Given the description of an element on the screen output the (x, y) to click on. 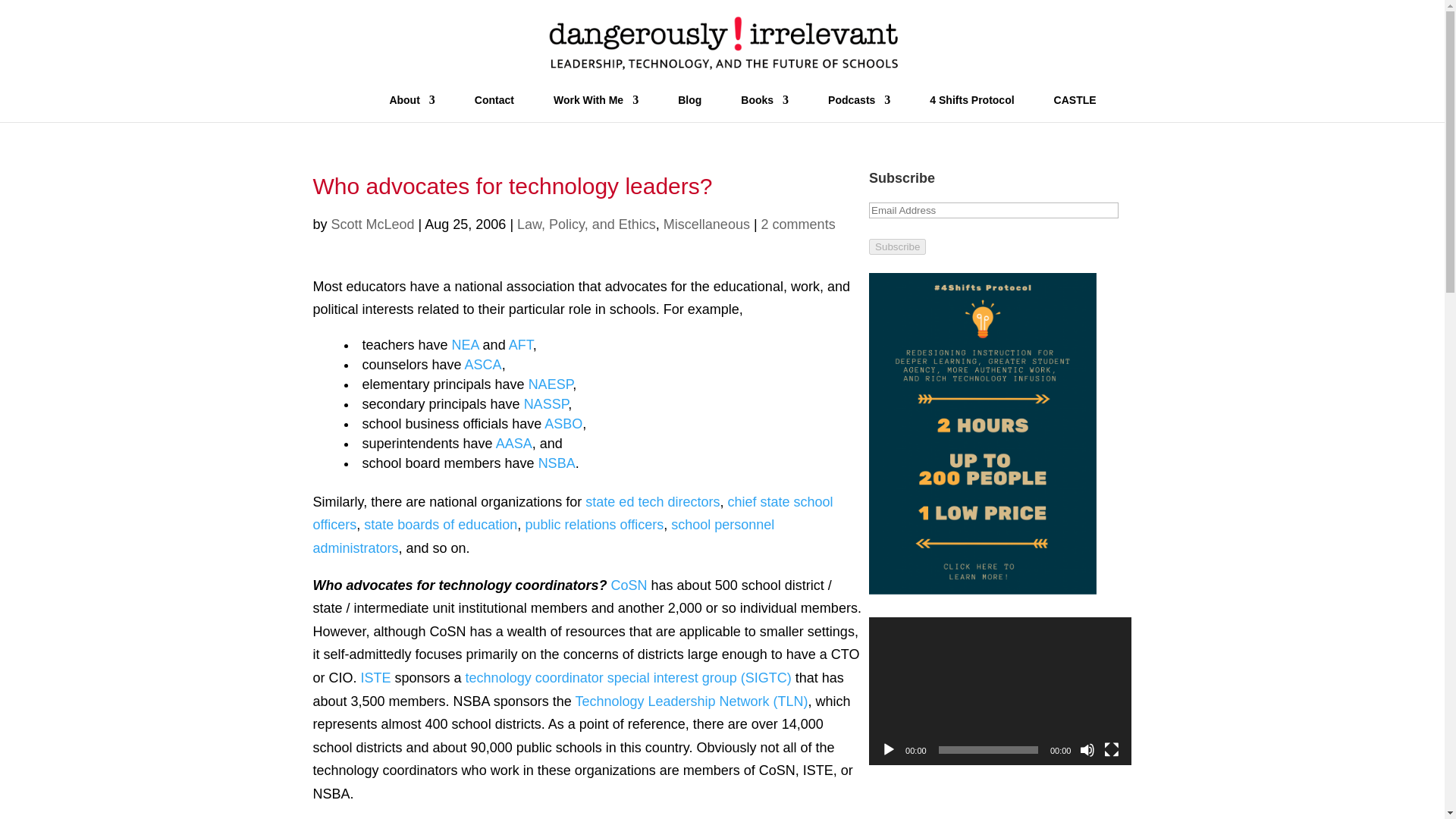
Posts by Scott McLeod (372, 224)
Play (888, 749)
About (410, 108)
Work With Me (596, 108)
4 Shifts Protocol (971, 108)
Contact (493, 108)
CASTLE (1075, 108)
Books (765, 108)
Fullscreen (1111, 749)
Podcasts (858, 108)
Mute (1087, 749)
